Given the description of an element on the screen output the (x, y) to click on. 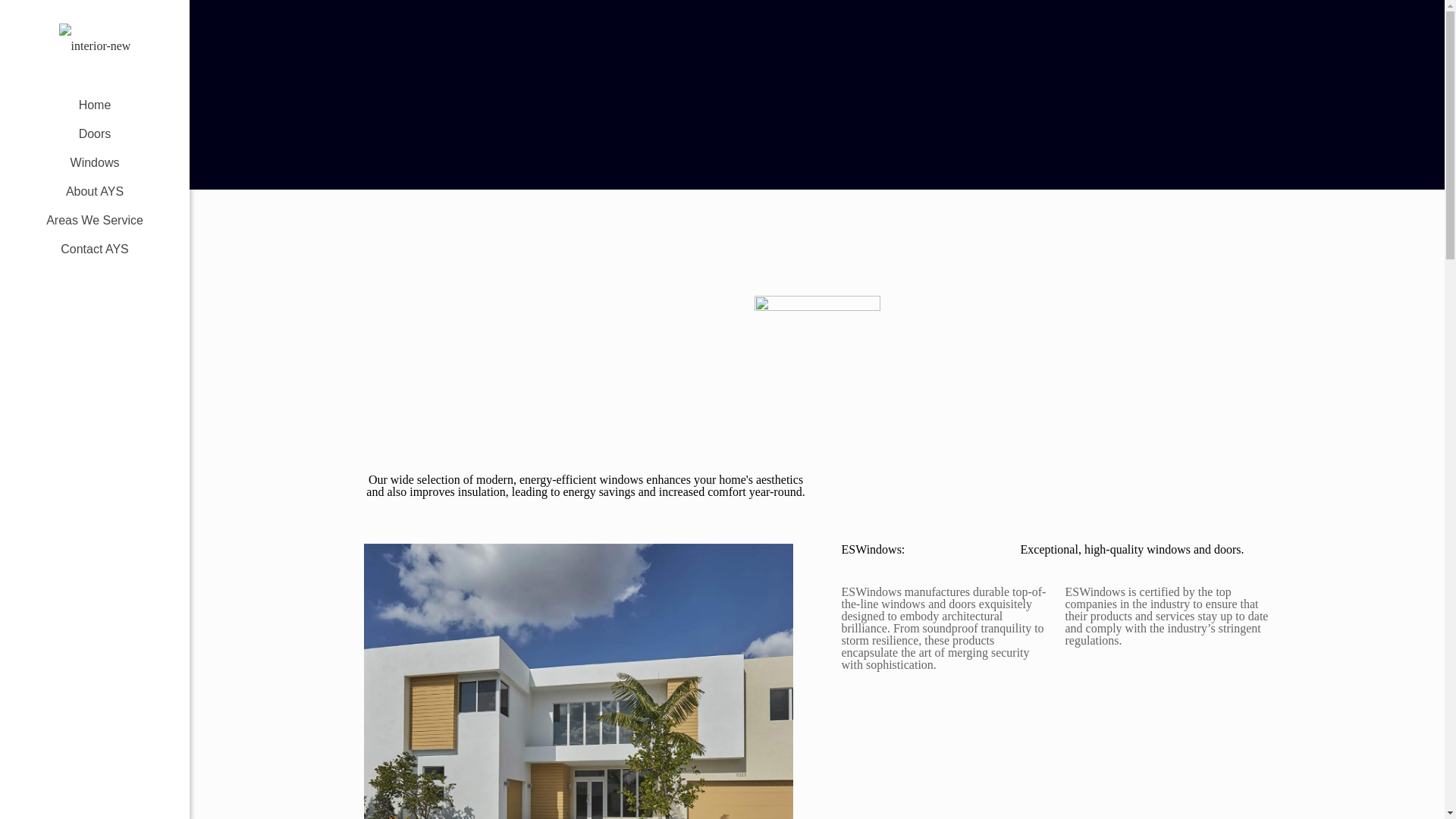
About AYS (94, 191)
Doors (94, 133)
Instagram (118, 798)
Facebook (71, 798)
Home (94, 104)
LinkedIn (102, 798)
Contact AYS (94, 249)
Areas We Service (94, 220)
Windows (94, 162)
